Given the description of an element on the screen output the (x, y) to click on. 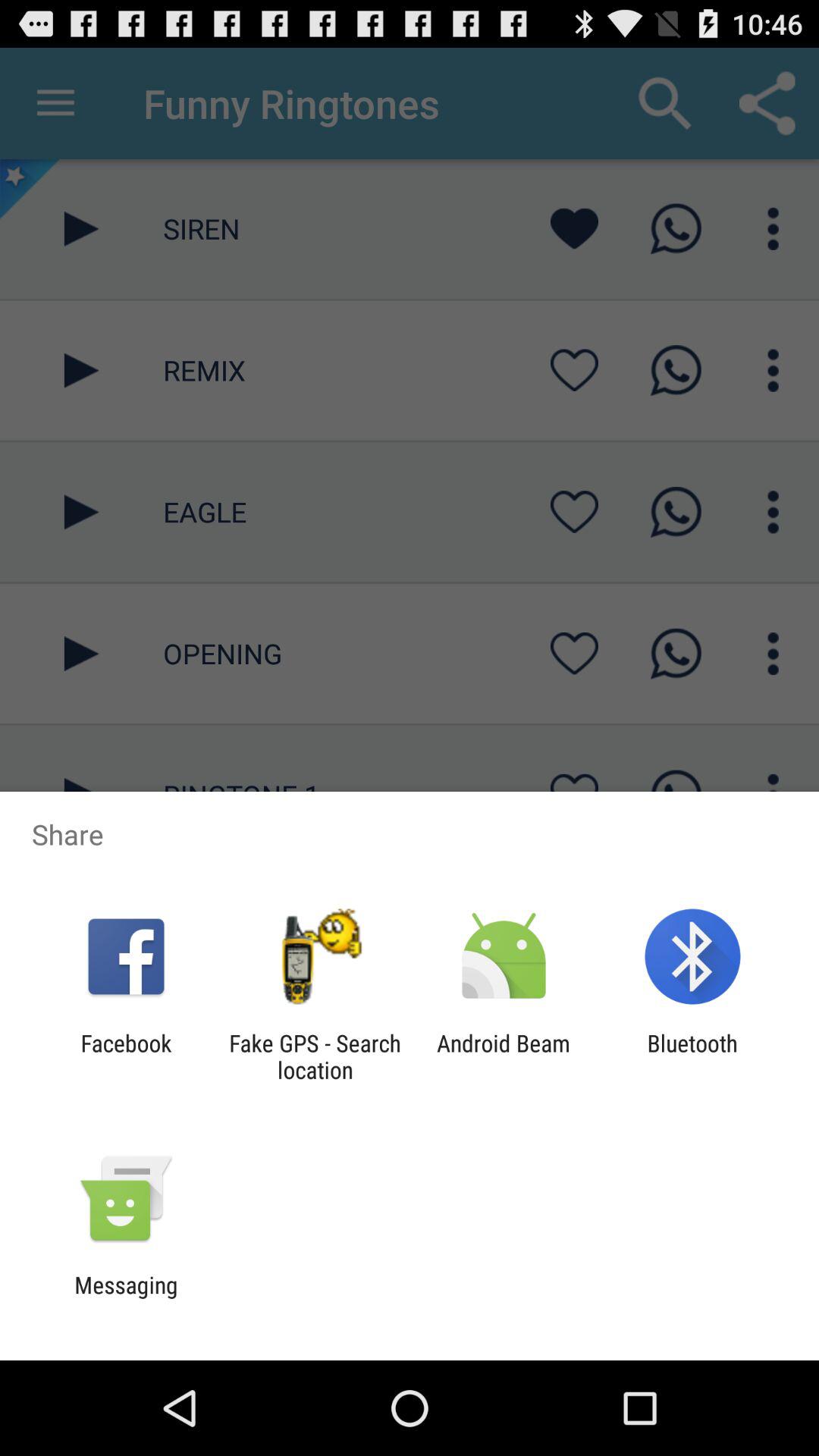
jump until the android beam (503, 1056)
